Given the description of an element on the screen output the (x, y) to click on. 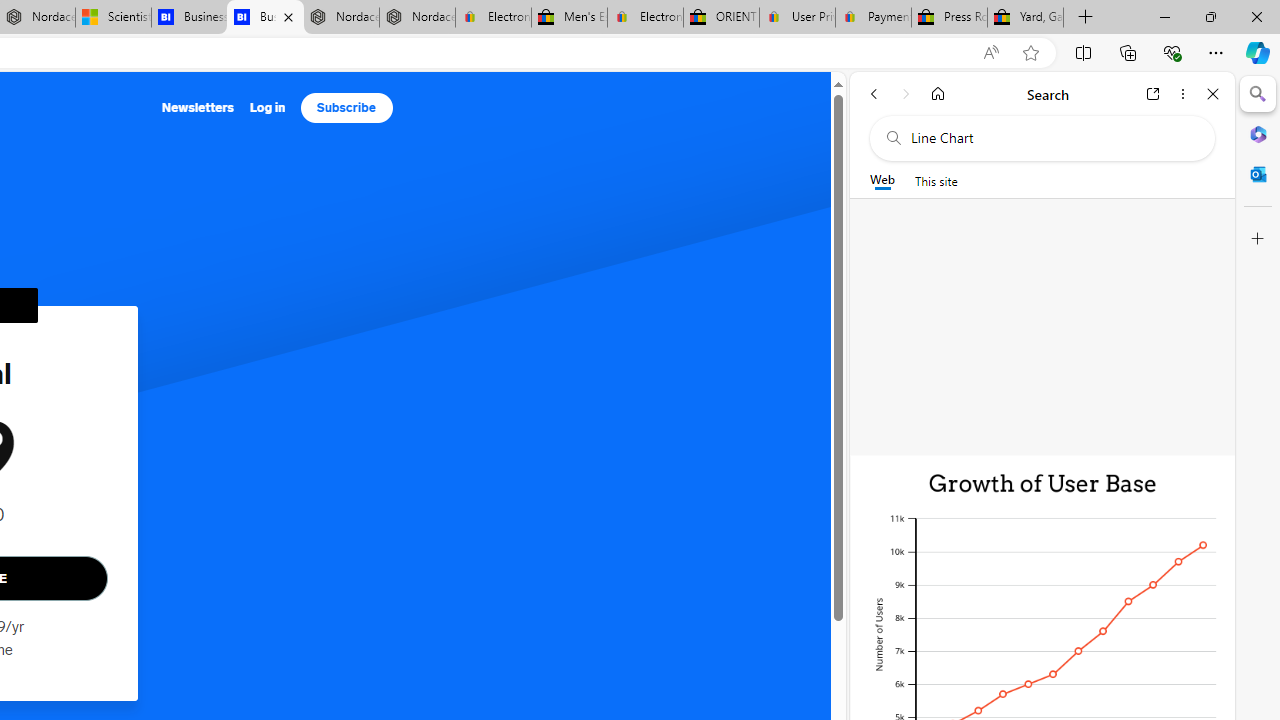
Minimize Search pane (1258, 94)
